Given the description of an element on the screen output the (x, y) to click on. 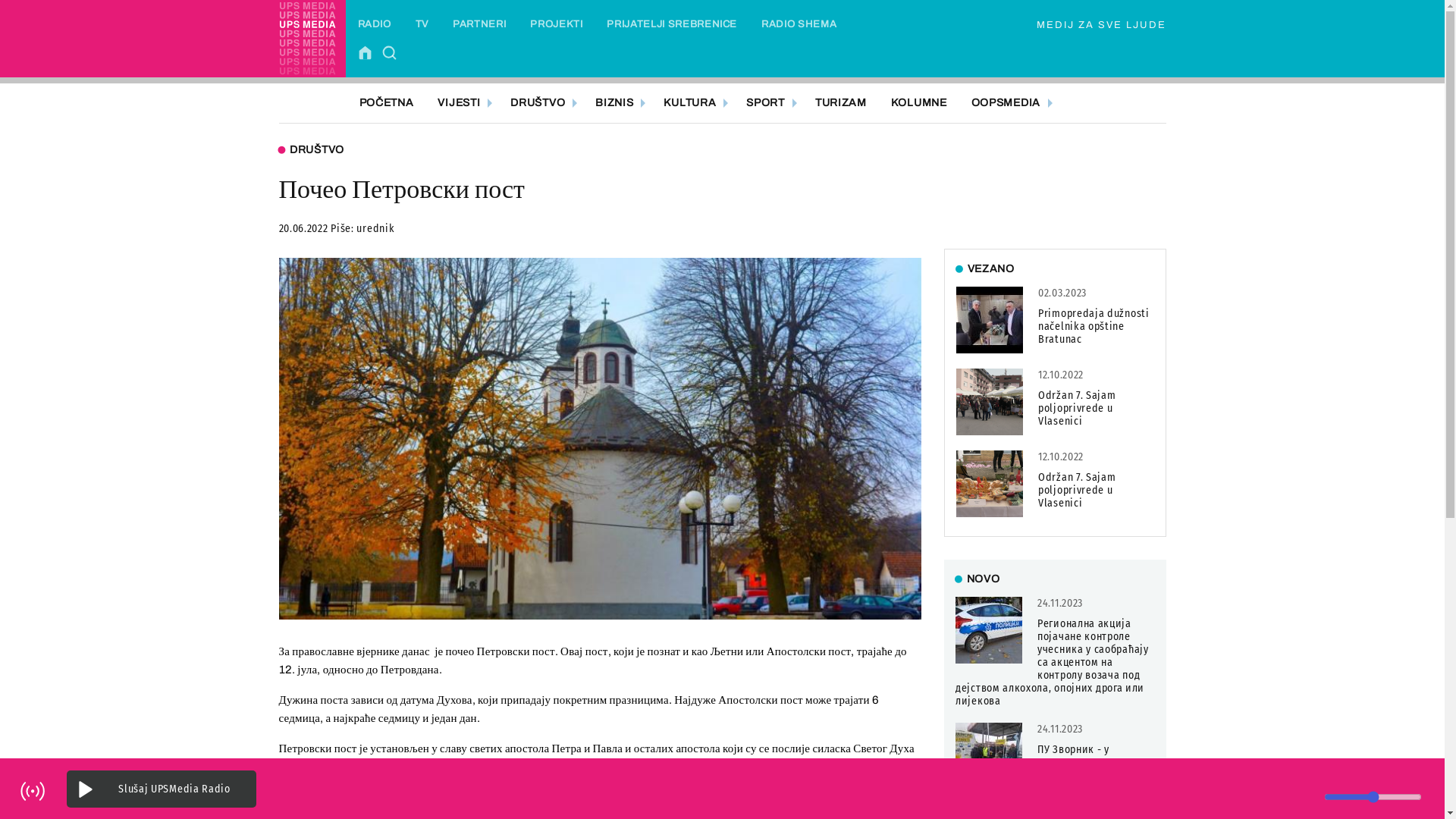
OOPSMEDIA Element type: text (1008, 102)
KOLUMNE Element type: text (918, 102)
PRIJATELJI SREBRENICE Element type: text (671, 24)
PARTNERI Element type: text (478, 24)
TURIZAM Element type: text (840, 102)
KULTURA Element type: text (692, 102)
Naslovnica Element type: text (368, 51)
SPORT Element type: text (768, 102)
PROJEKTI Element type: text (555, 24)
BIZNIS Element type: text (617, 102)
RADIO SHEMA Element type: text (798, 24)
RADIO Element type: text (374, 24)
TV Element type: text (421, 24)
VIJESTI Element type: text (461, 102)
Pretraga Element type: text (392, 51)
